Given the description of an element on the screen output the (x, y) to click on. 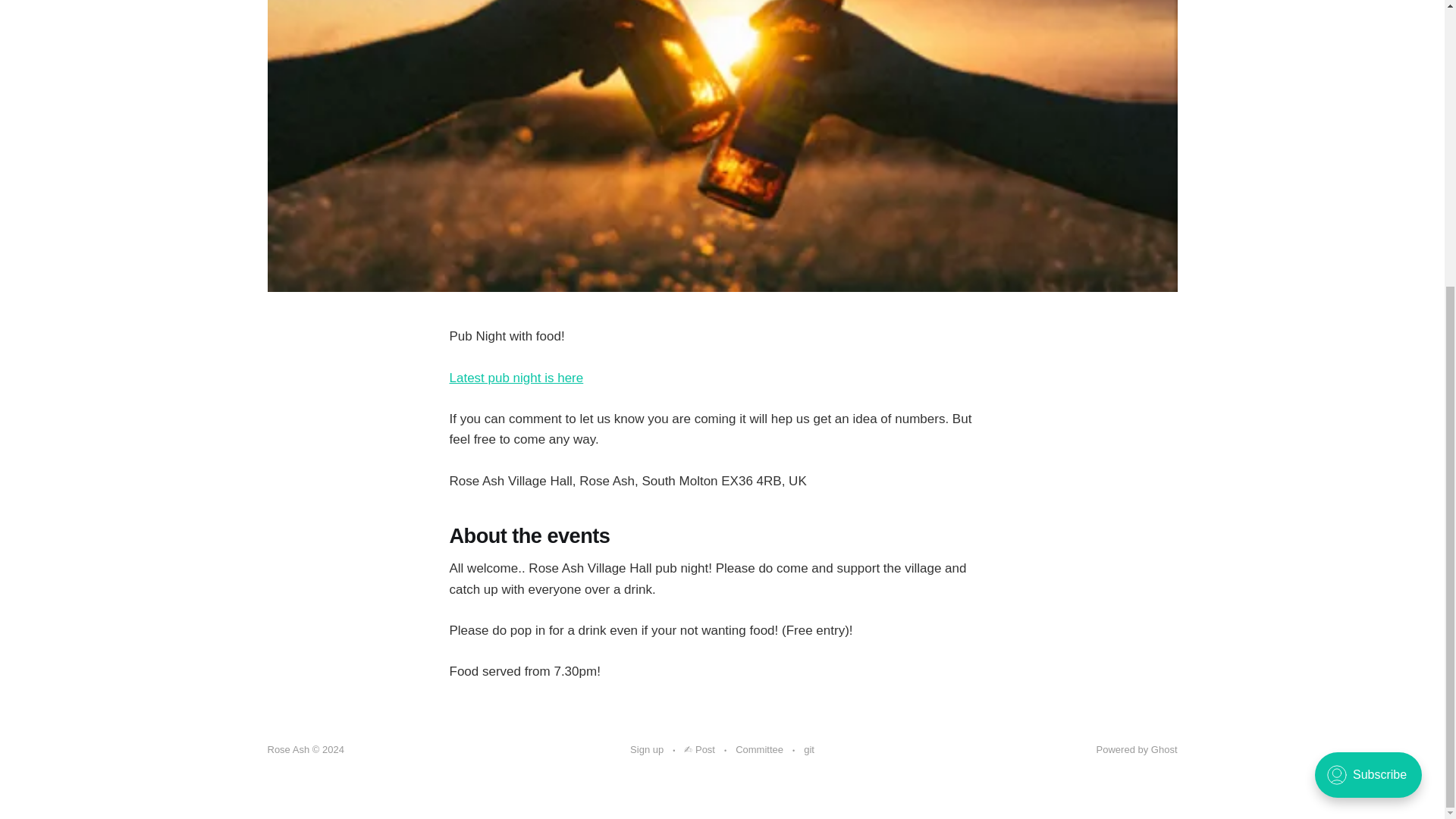
Powered by Ghost (1136, 749)
Sign up (646, 750)
Latest pub night is here (515, 377)
Committee (759, 750)
